Given the description of an element on the screen output the (x, y) to click on. 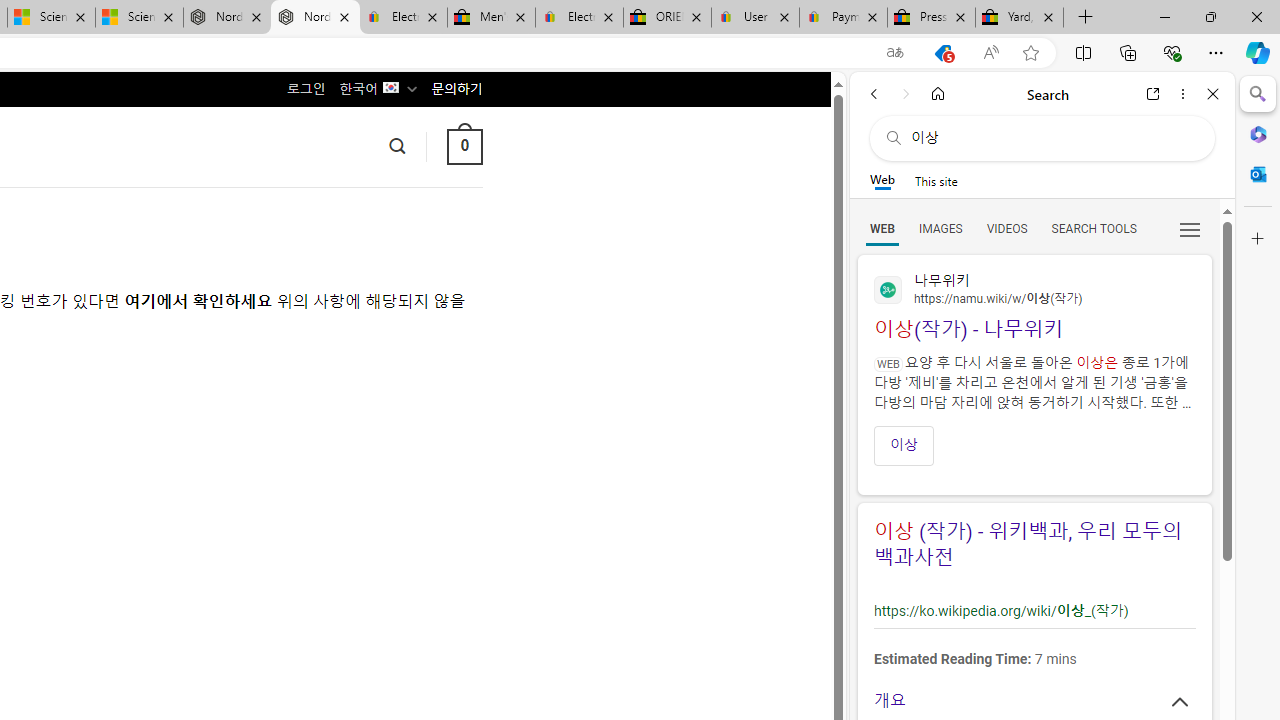
Search Filter, VIDEOS (1006, 228)
Preferences (1189, 228)
SEARCH TOOLS (1093, 228)
